Given the description of an element on the screen output the (x, y) to click on. 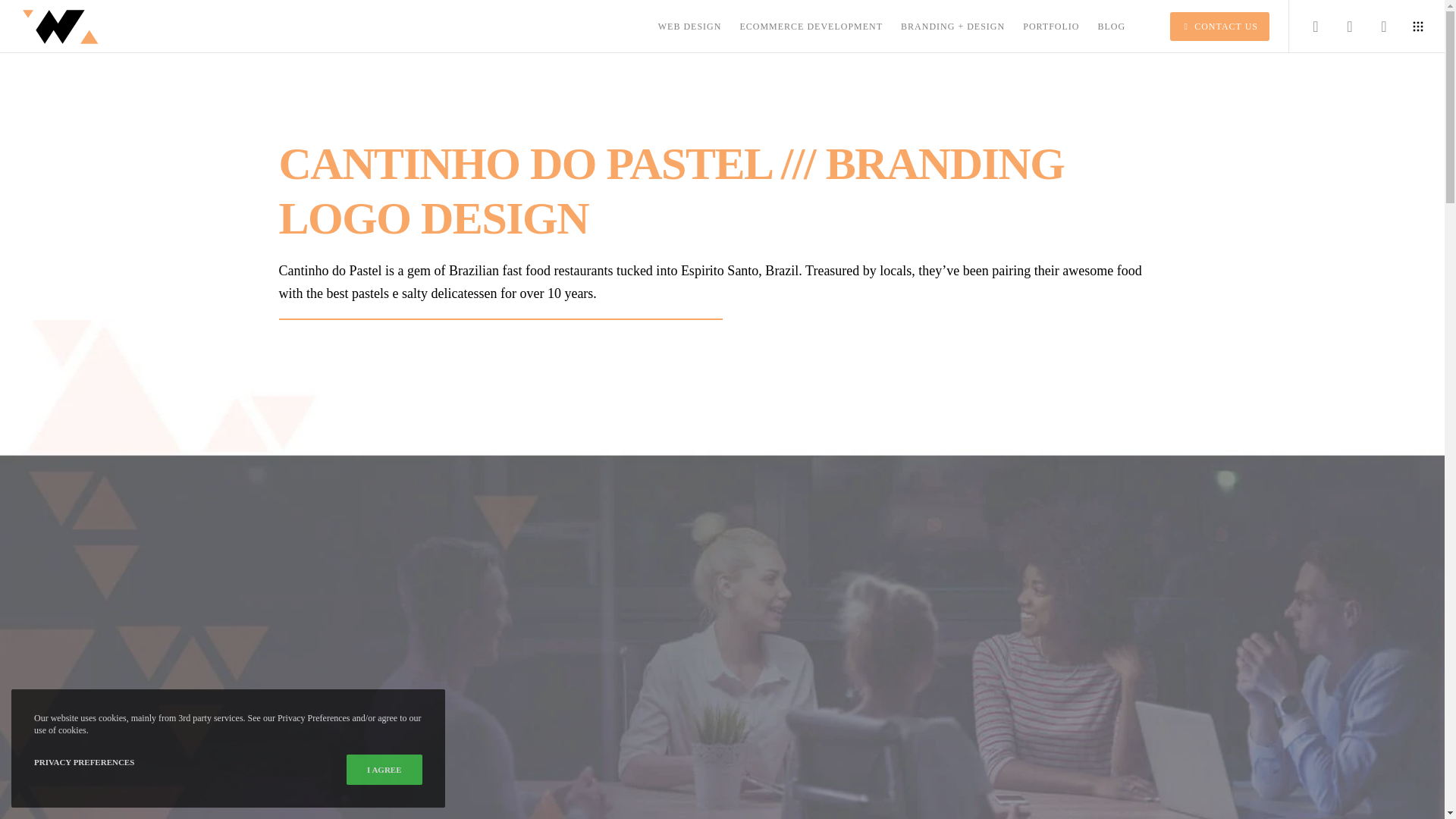
PORTFOLIO (1041, 26)
Created with Snap (1417, 26)
CONTACT US (1210, 26)
Wordpress website development in Montreal (443, 768)
CANADA (307, 654)
WEB DESIGN (681, 26)
ECOMMERCE DEVELOPMENT (801, 26)
BRAZIL (385, 654)
